Given the description of an element on the screen output the (x, y) to click on. 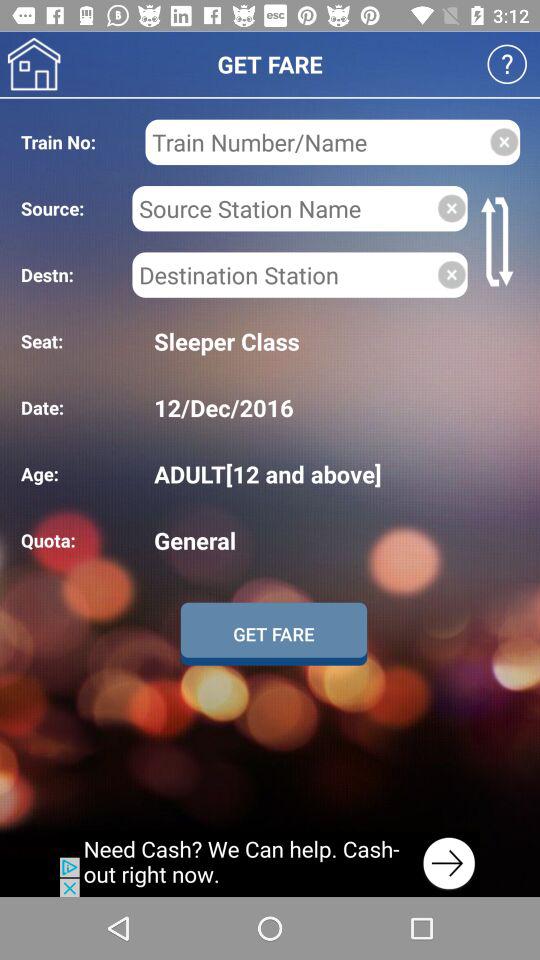
click help option (506, 64)
